Given the description of an element on the screen output the (x, y) to click on. 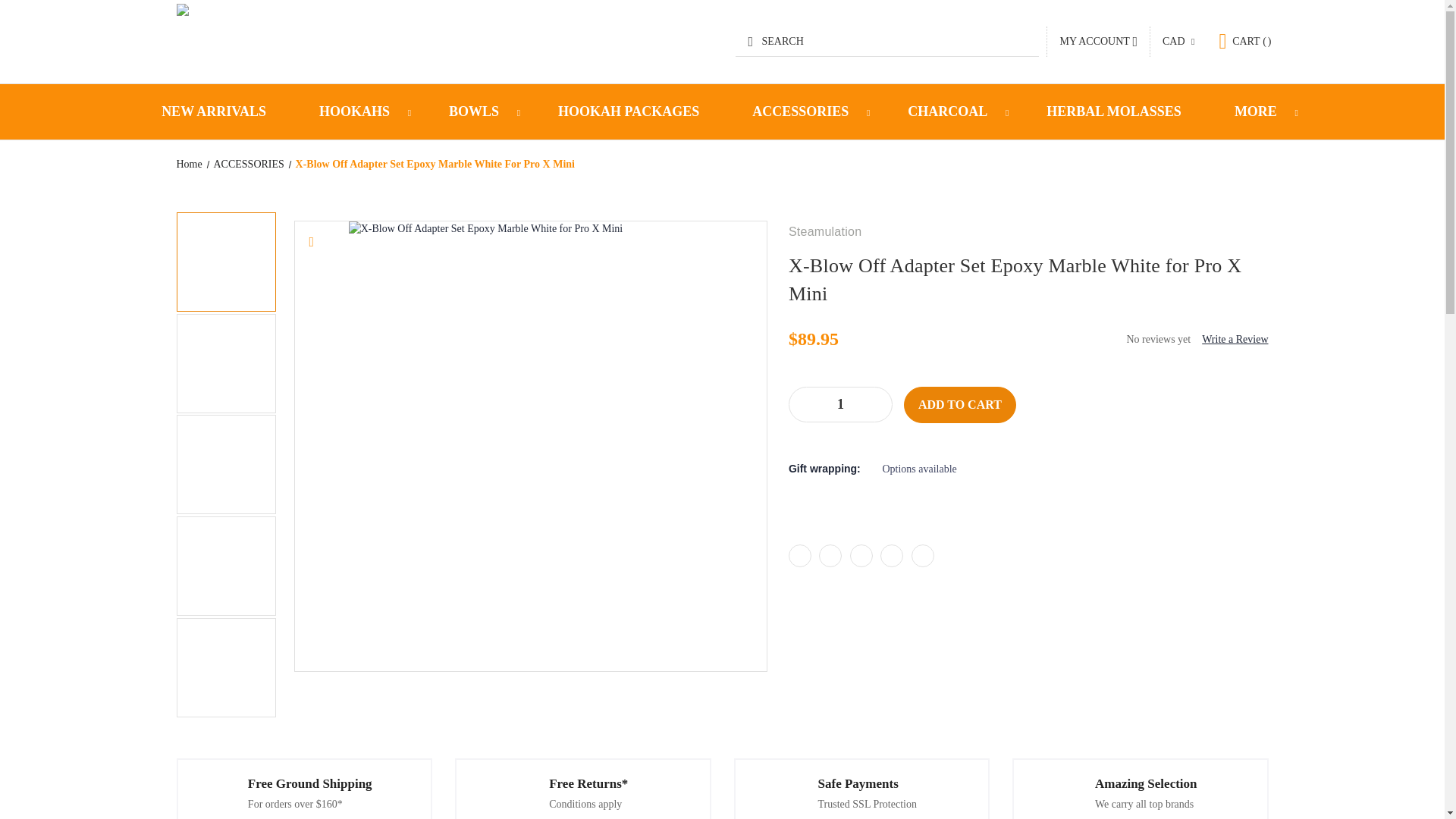
MY ACCOUNT (1098, 41)
CAD (1178, 41)
CART (1244, 41)
SEARCH (887, 41)
1 (840, 404)
HOOKAHS (357, 111)
NEW ARRIVALS (213, 111)
Add to Cart (960, 404)
